Given the description of an element on the screen output the (x, y) to click on. 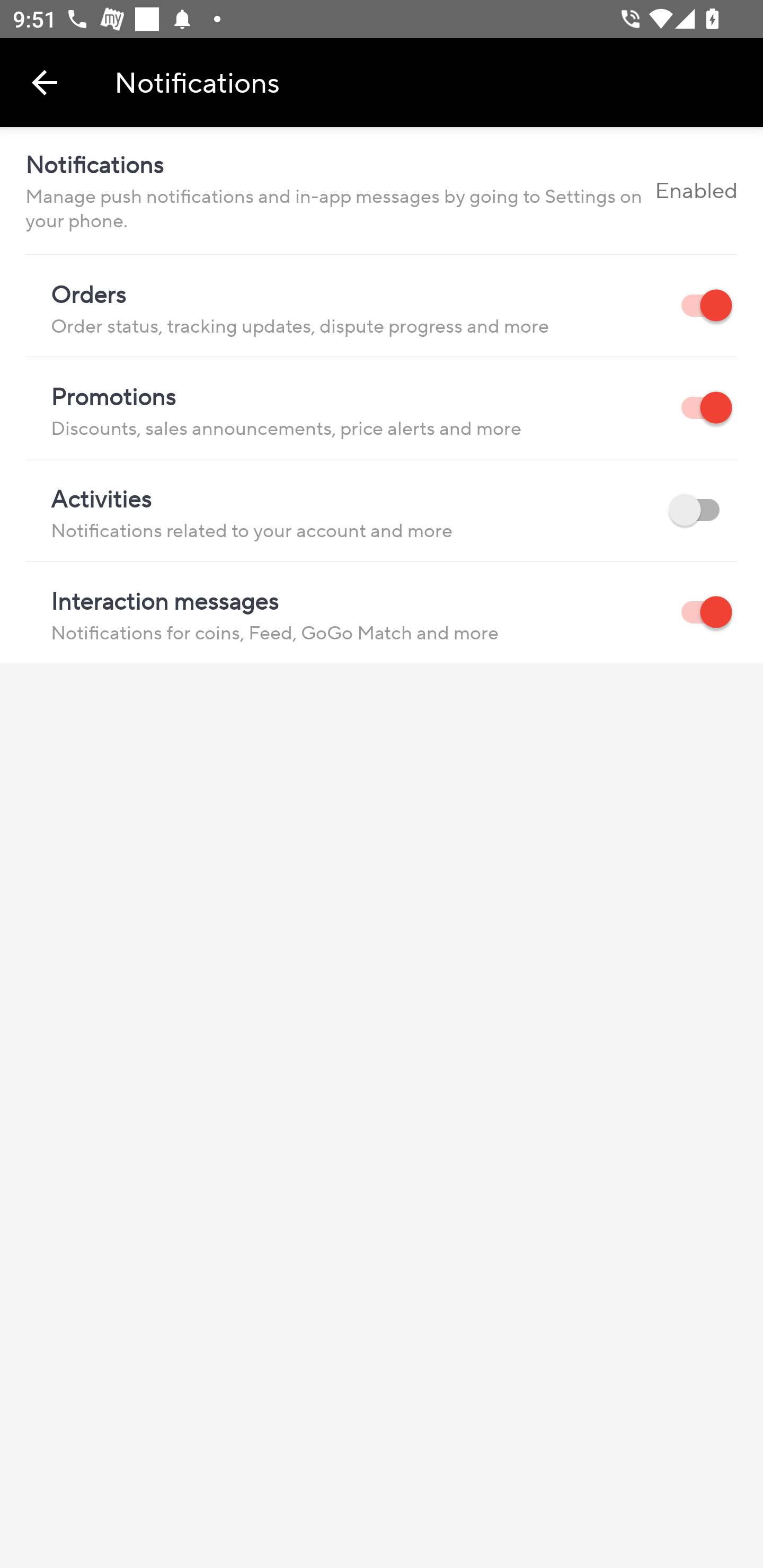
Navigate up (44, 82)
